Given the description of an element on the screen output the (x, y) to click on. 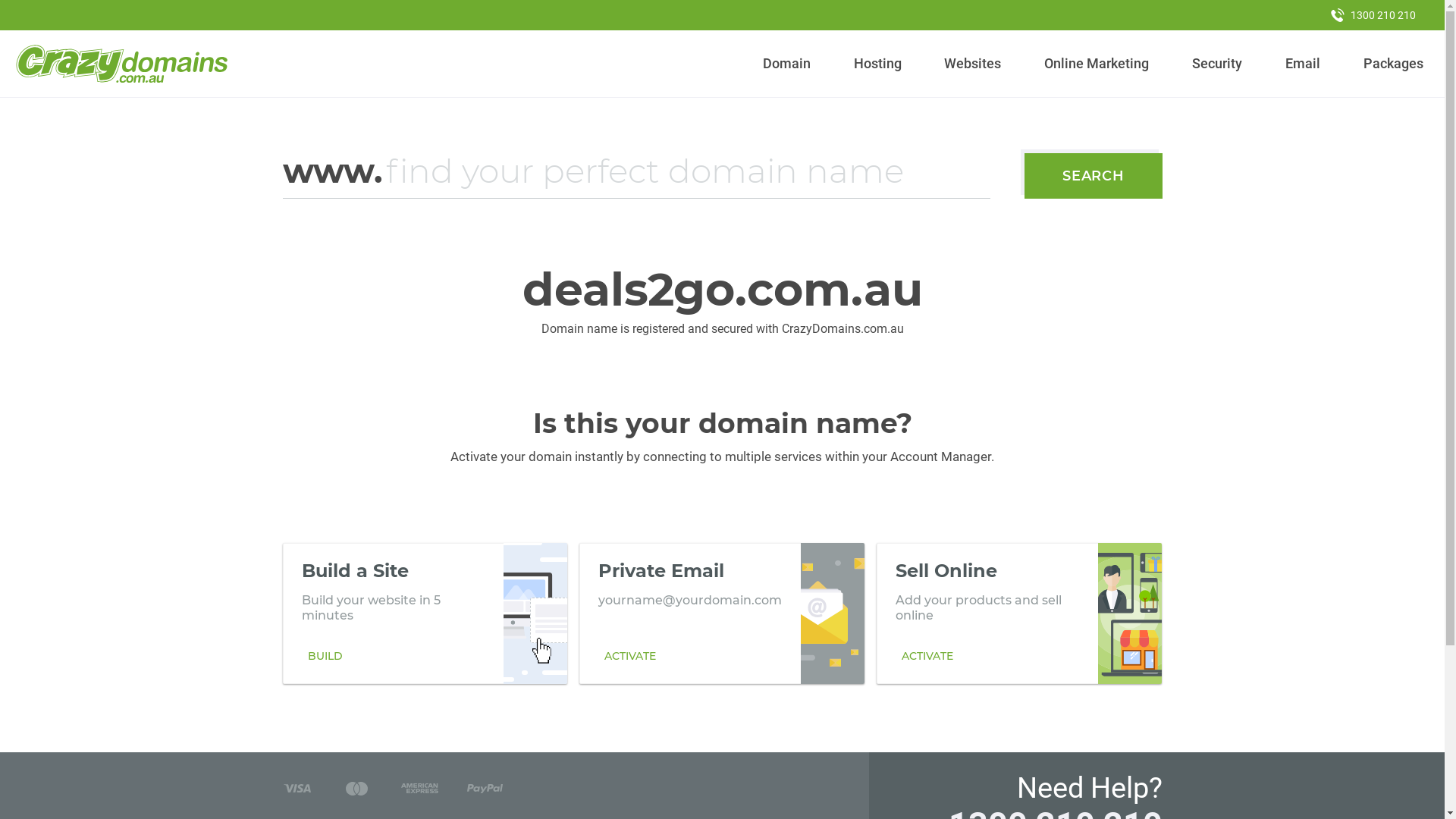
Hosting Element type: text (877, 63)
SEARCH Element type: text (1092, 175)
1300 210 210 Element type: text (1373, 15)
Websites Element type: text (972, 63)
Build a Site
Build your website in 5 minutes
BUILD Element type: text (424, 613)
Email Element type: text (1302, 63)
Private Email
yourname@yourdomain.com
ACTIVATE Element type: text (721, 613)
Domain Element type: text (786, 63)
Security Element type: text (1217, 63)
Packages Element type: text (1392, 63)
Online Marketing Element type: text (1096, 63)
Sell Online
Add your products and sell online
ACTIVATE Element type: text (1018, 613)
